Given the description of an element on the screen output the (x, y) to click on. 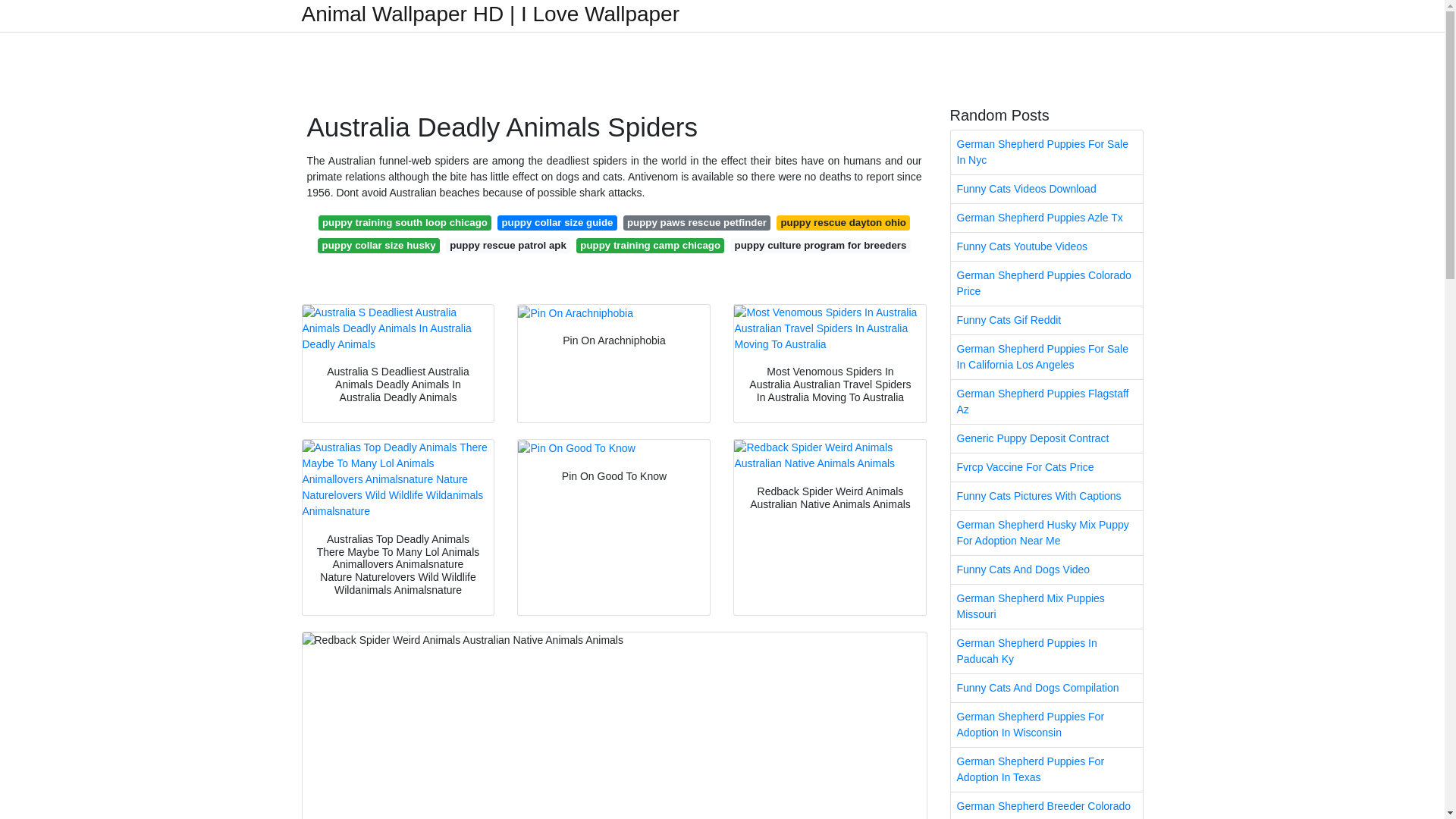
German Shepherd Puppies Colorado Price (1046, 283)
puppy rescue patrol apk (507, 245)
Funny Cats Youtube Videos (1046, 246)
Fvrcp Vaccine For Cats Price (1046, 467)
Funny Cats Videos Download (1046, 189)
German Shepherd Puppies Azle Tx (1046, 217)
puppy training camp chicago (649, 245)
puppy rescue dayton ohio (843, 222)
puppy paws rescue petfinder (697, 222)
puppy culture program for breeders (820, 245)
